Given the description of an element on the screen output the (x, y) to click on. 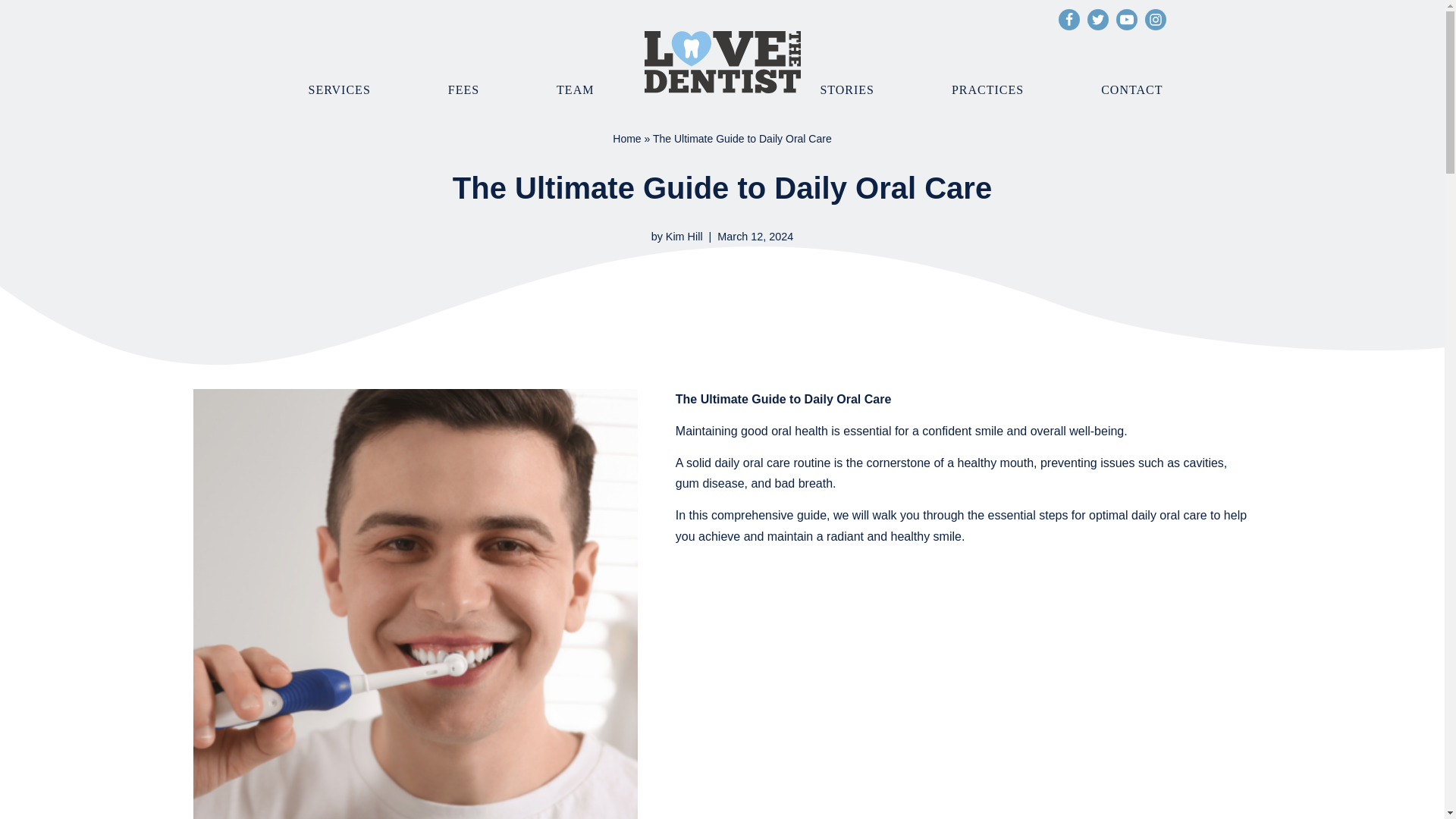
TEAM (575, 89)
Twitter (1097, 19)
Instagram (1155, 19)
Youtube (1126, 19)
SERVICES (338, 89)
Skip to content (11, 31)
Facebook (1069, 19)
PRACTICES (987, 89)
STORIES (847, 89)
Posts by Kim Hill (684, 236)
